Given the description of an element on the screen output the (x, y) to click on. 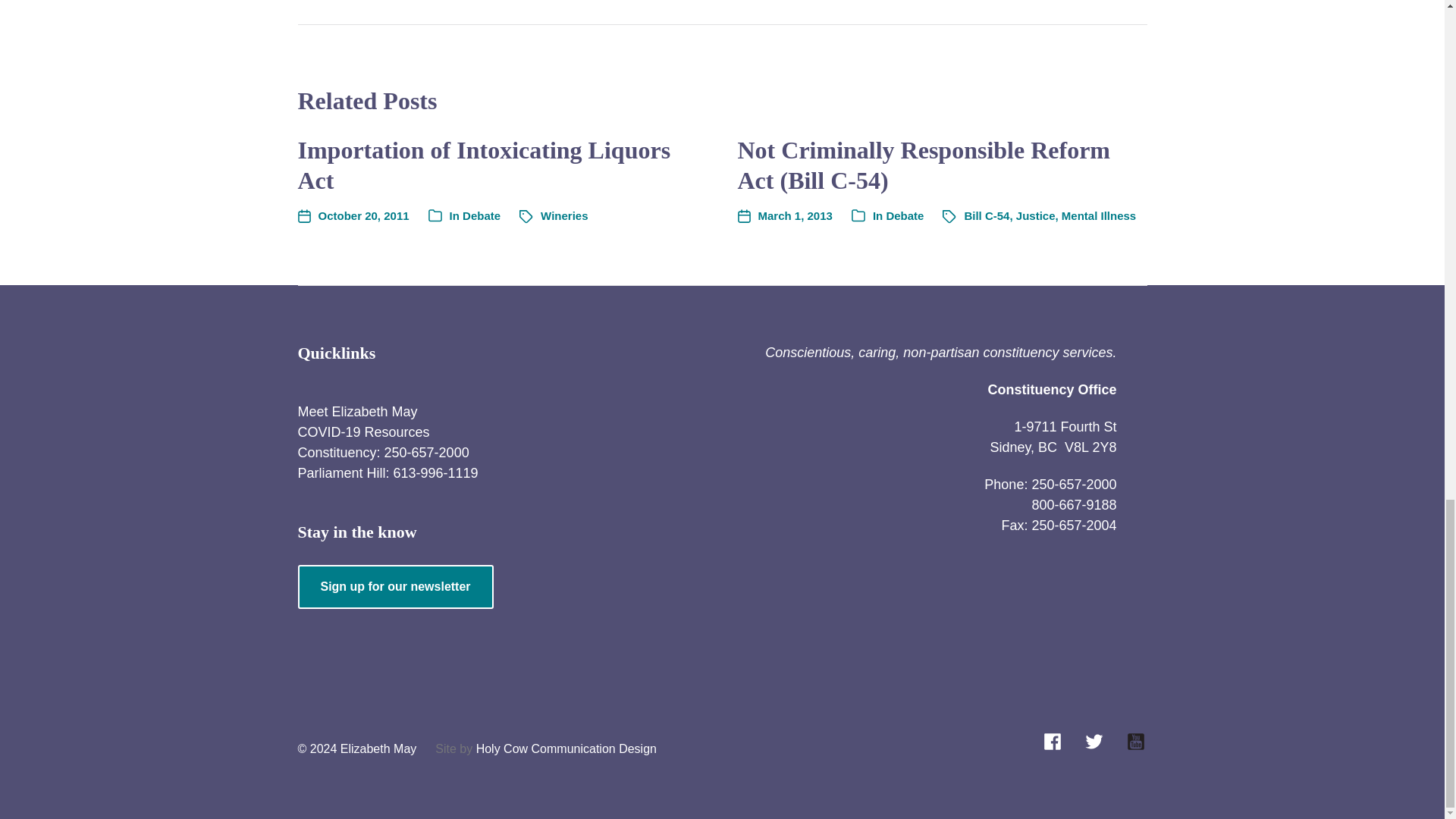
newsletter sign up link (395, 587)
